Given the description of an element on the screen output the (x, y) to click on. 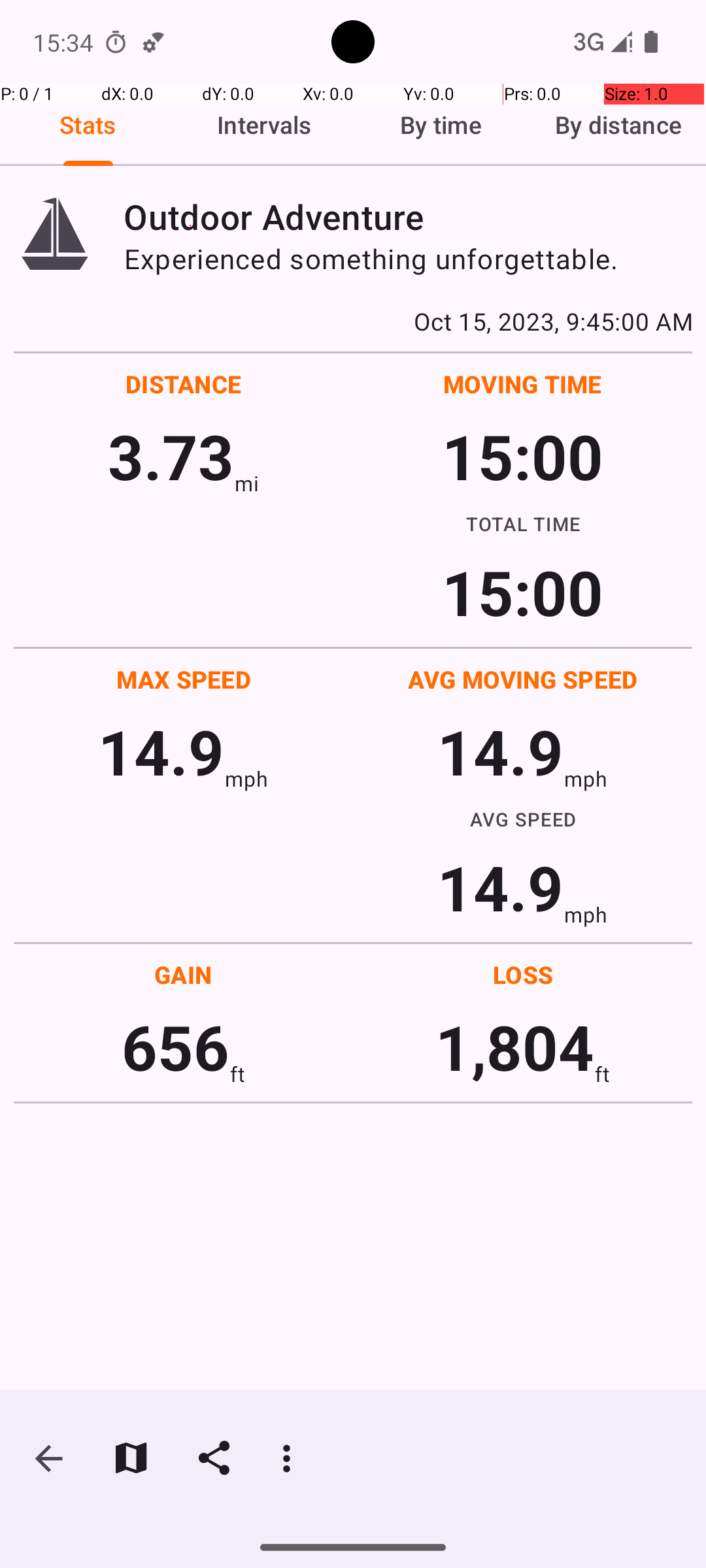
Experienced something unforgettable. Element type: android.widget.TextView (407, 258)
Oct 15, 2023, 9:45:00 AM Element type: android.widget.TextView (352, 320)
3.73 Element type: android.widget.TextView (170, 455)
14.9 Element type: android.widget.TextView (161, 750)
656 Element type: android.widget.TextView (175, 1045)
1,804 Element type: android.widget.TextView (514, 1045)
